Given the description of an element on the screen output the (x, y) to click on. 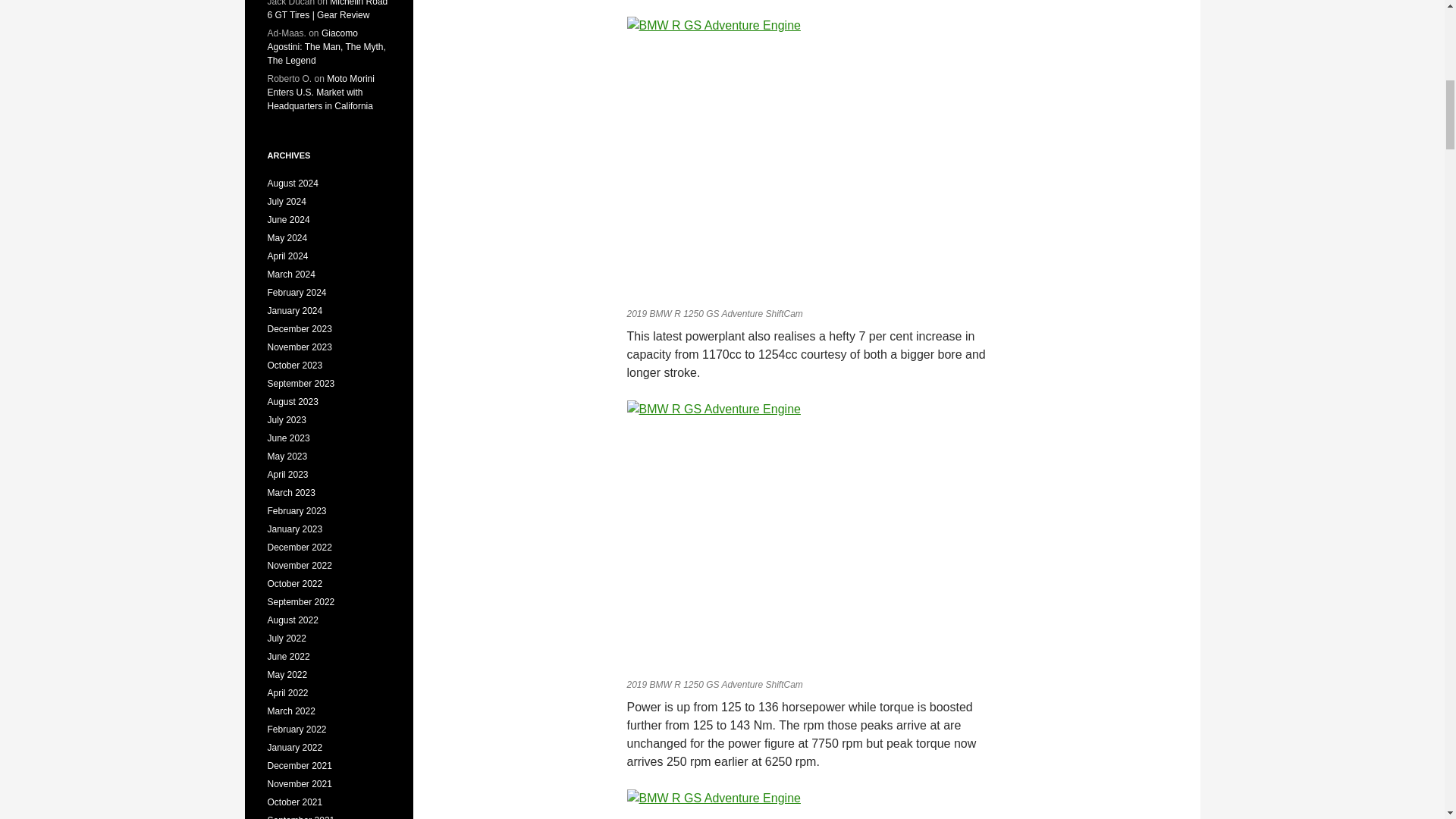
BMW R GS Adventure Engine (805, 535)
BMW R GS Adventure Engine (805, 804)
BMW R GS Adventure Engine (805, 158)
